Given the description of an element on the screen output the (x, y) to click on. 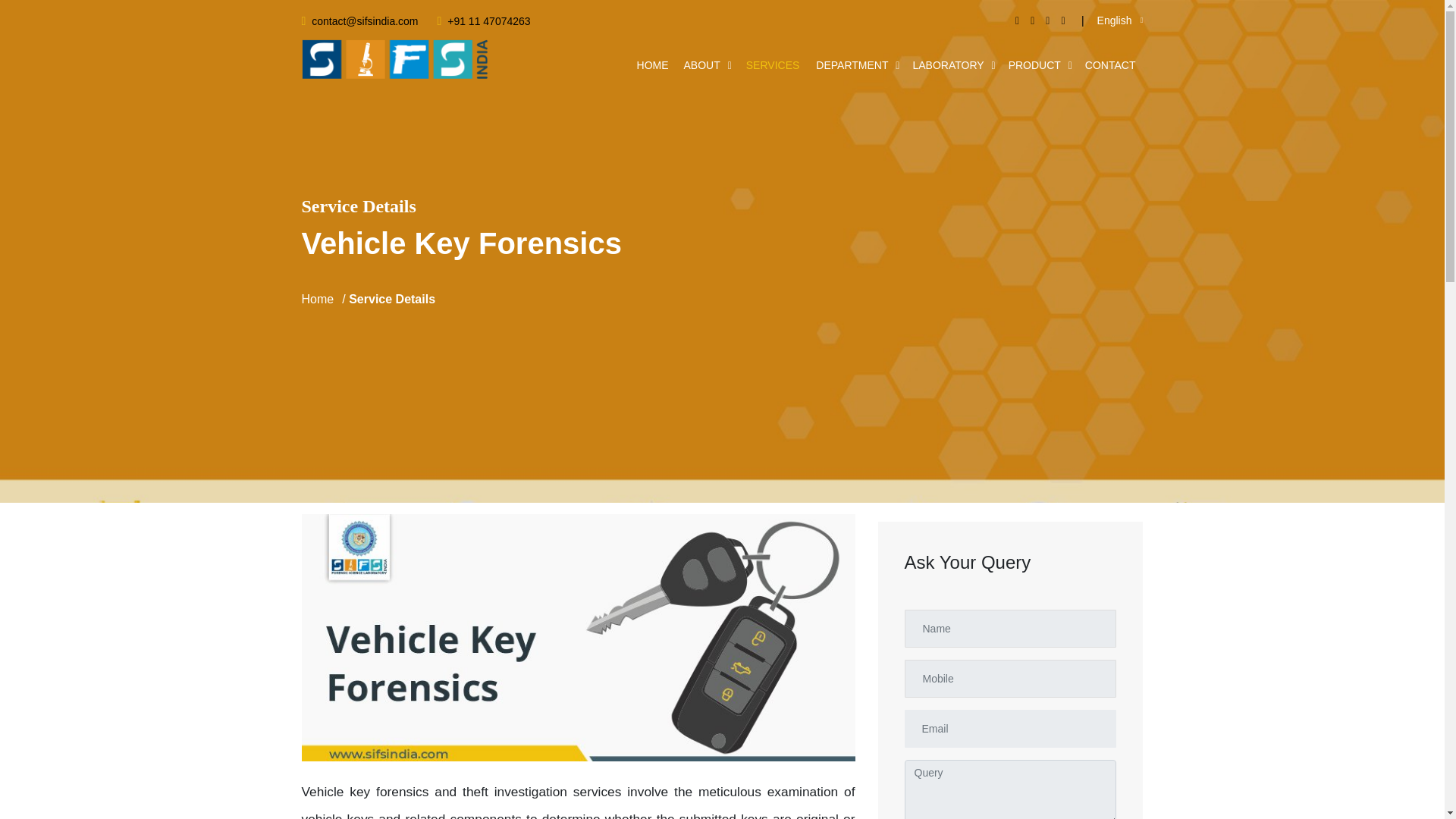
HOME (652, 64)
English (1119, 20)
ABOUT (702, 64)
